Given the description of an element on the screen output the (x, y) to click on. 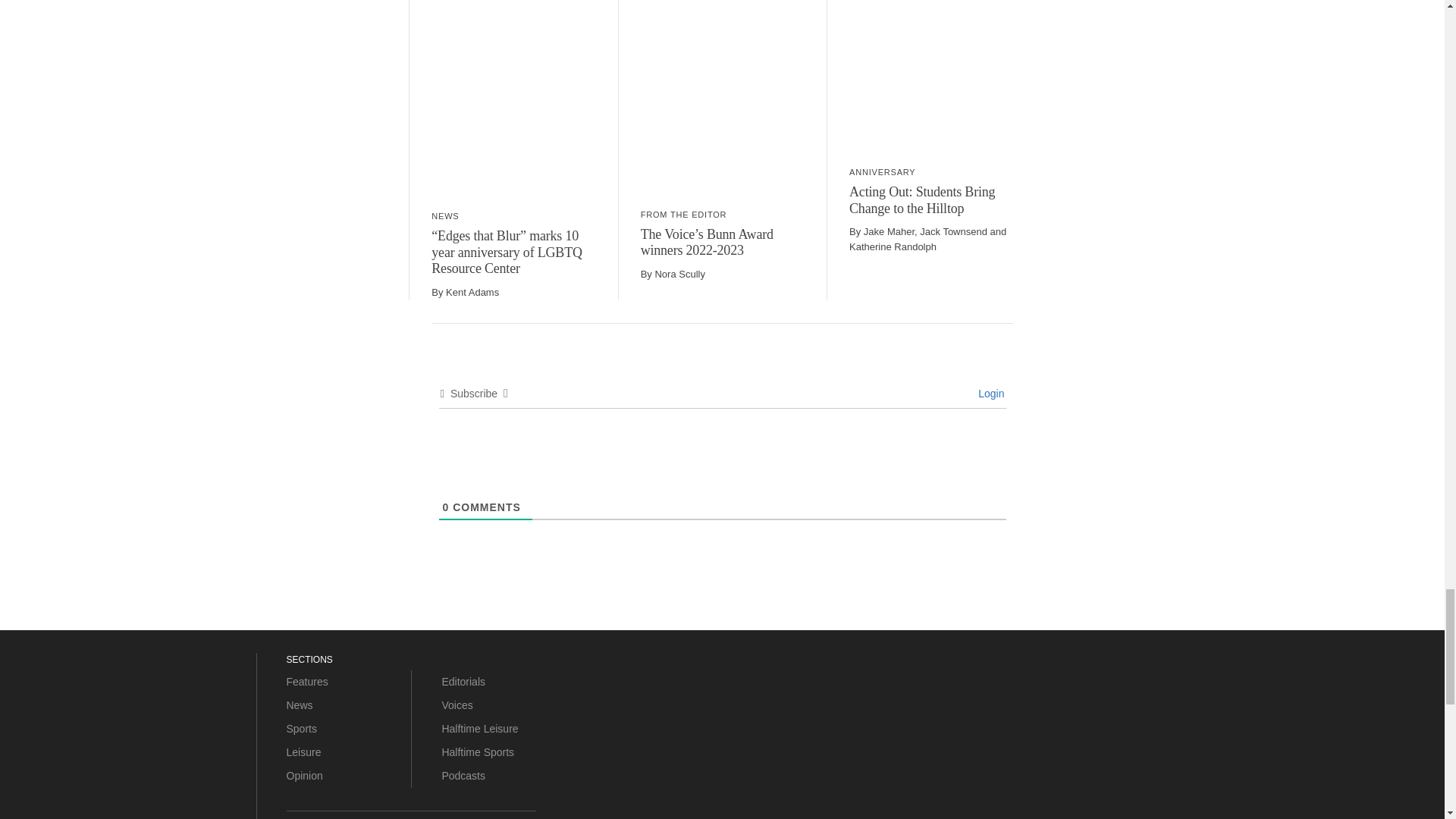
Posts by Jake Maher (888, 231)
Posts by Jack Townsend (953, 231)
Posts by Katherine Randolph (892, 246)
Posts by Nora Scully (678, 274)
Posts by Kent Adams (472, 292)
